Given the description of an element on the screen output the (x, y) to click on. 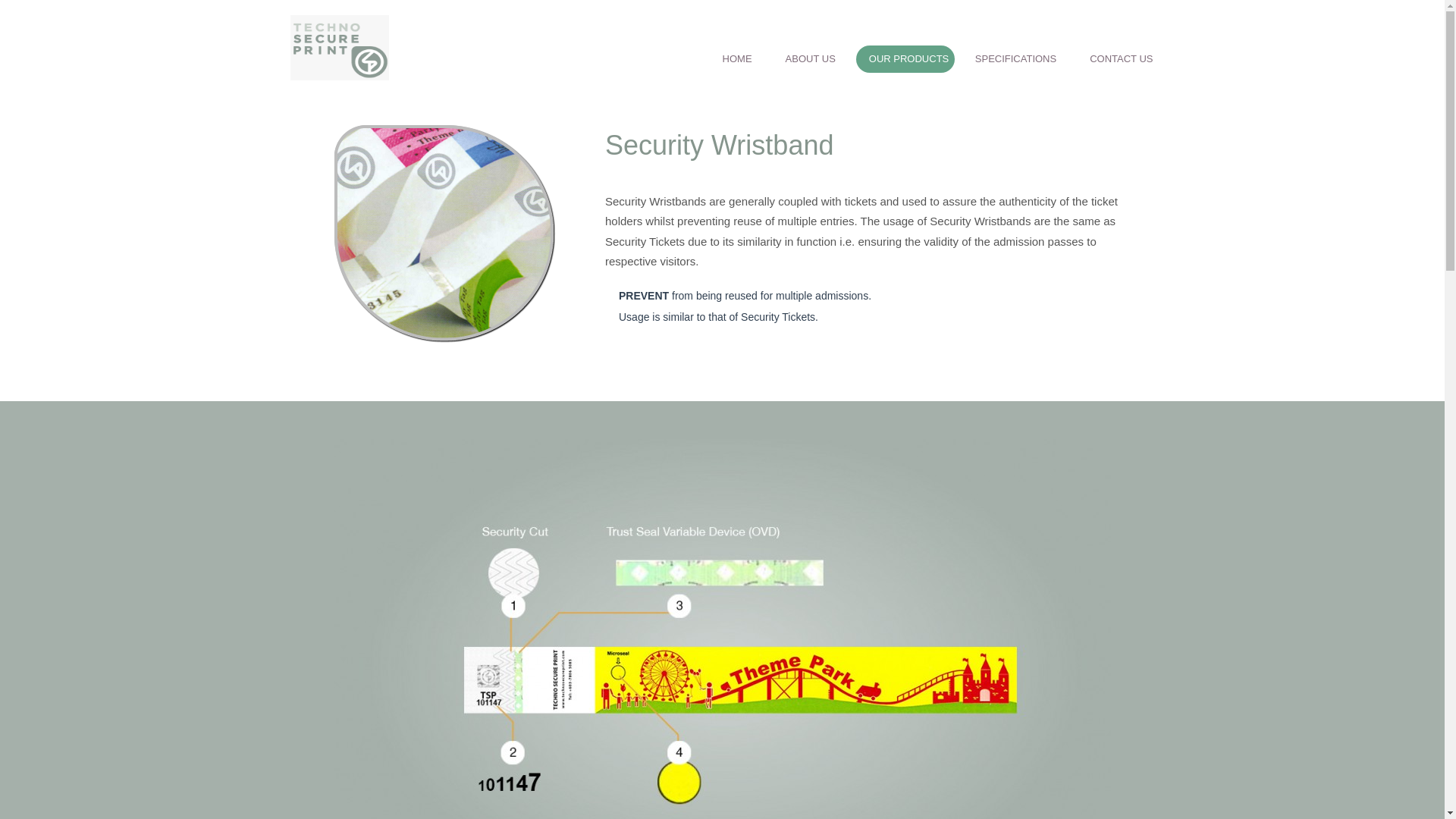
ABOUT US (810, 58)
Home (737, 58)
Specifications (1015, 58)
CONTACT US (1121, 58)
OUR PRODUCTS (905, 58)
CONTACT US (1121, 58)
Our Products (905, 58)
ABOUT US (810, 58)
HOME (737, 58)
SPECIFICATIONS (1015, 58)
